Given the description of an element on the screen output the (x, y) to click on. 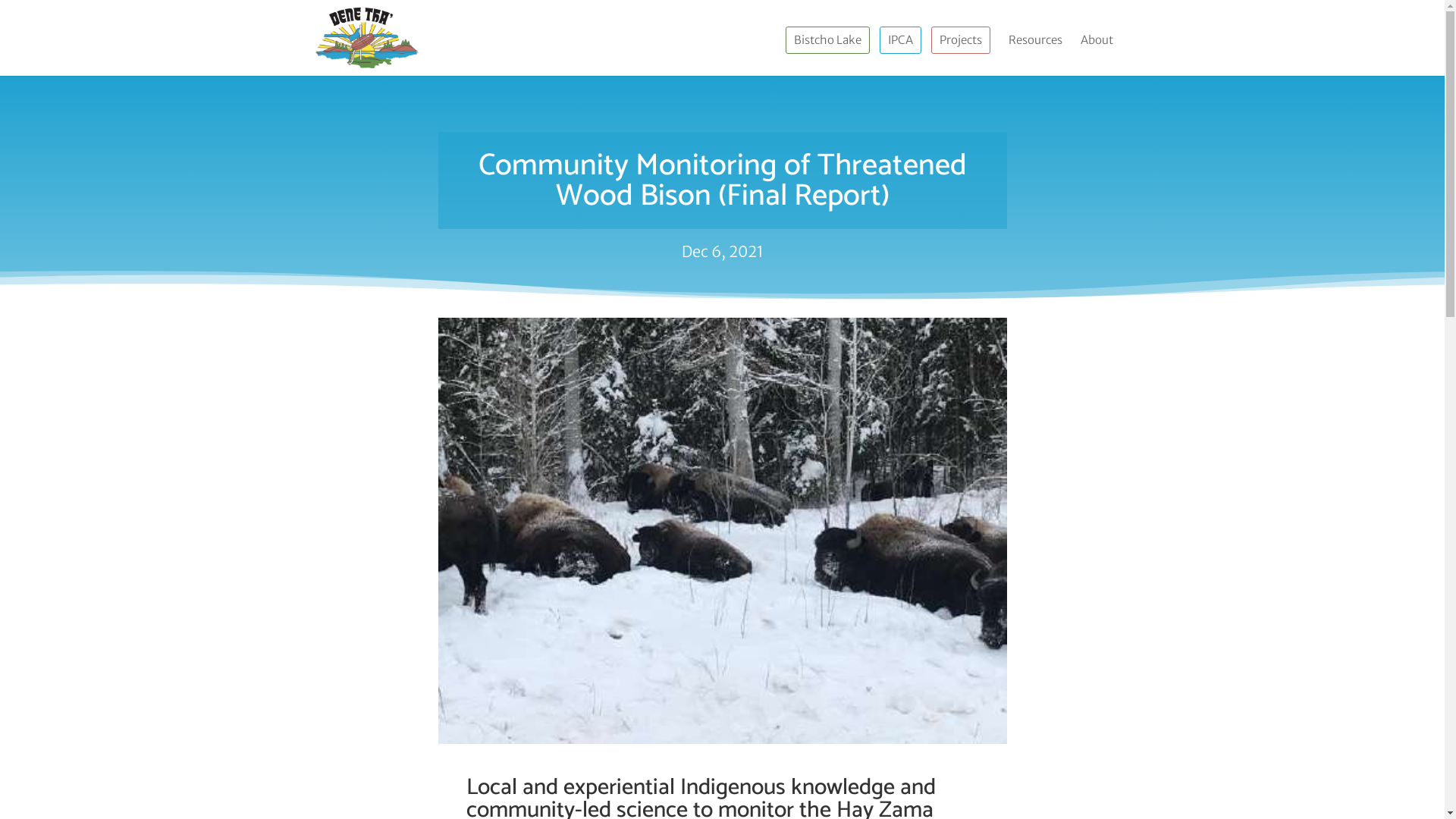
IPCA Element type: text (899, 40)
About Element type: text (1103, 54)
Projects Element type: text (959, 40)
Bison in Study Area Element type: hover (722, 530)
Bistcho Lake Element type: text (826, 40)
Resources Element type: text (1035, 40)
